Given the description of an element on the screen output the (x, y) to click on. 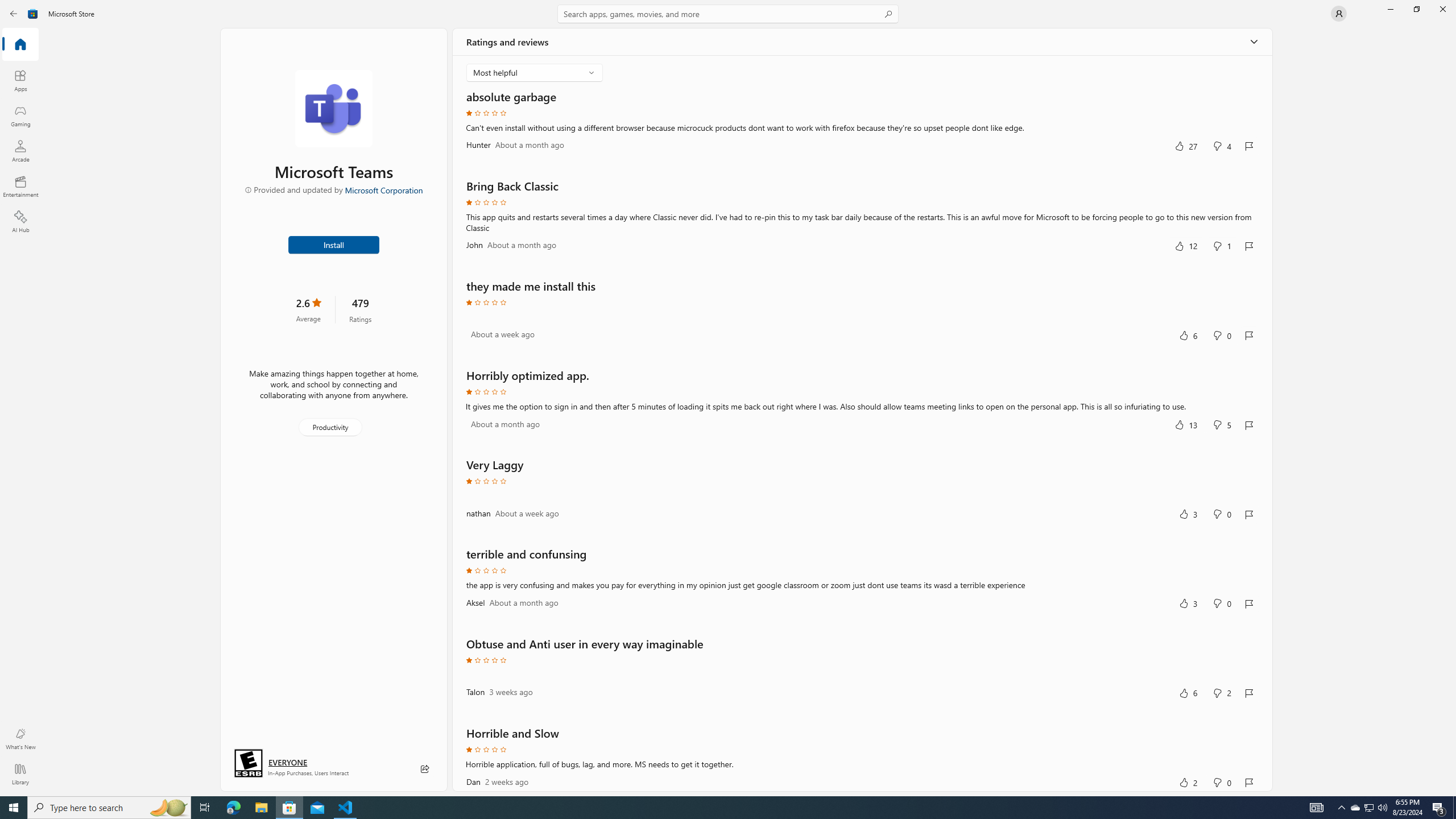
Microsoft Corporation (383, 189)
AI Hub (20, 221)
Age rating: EVERYONE. Click for more information. (287, 762)
No, this was not helpful. 5 votes. (1222, 424)
Search (727, 13)
Report review (1248, 781)
User profile (1338, 13)
Restore Microsoft Store (1416, 9)
Share (424, 769)
No, this was not helpful. 0 votes. (1222, 781)
Yes, this was helpful. 2 votes. (1188, 781)
Class: Image (32, 13)
2.6 stars. Click to skip to ratings and reviews (307, 309)
Yes, this was helpful. 3 votes. (1188, 603)
